Given the description of an element on the screen output the (x, y) to click on. 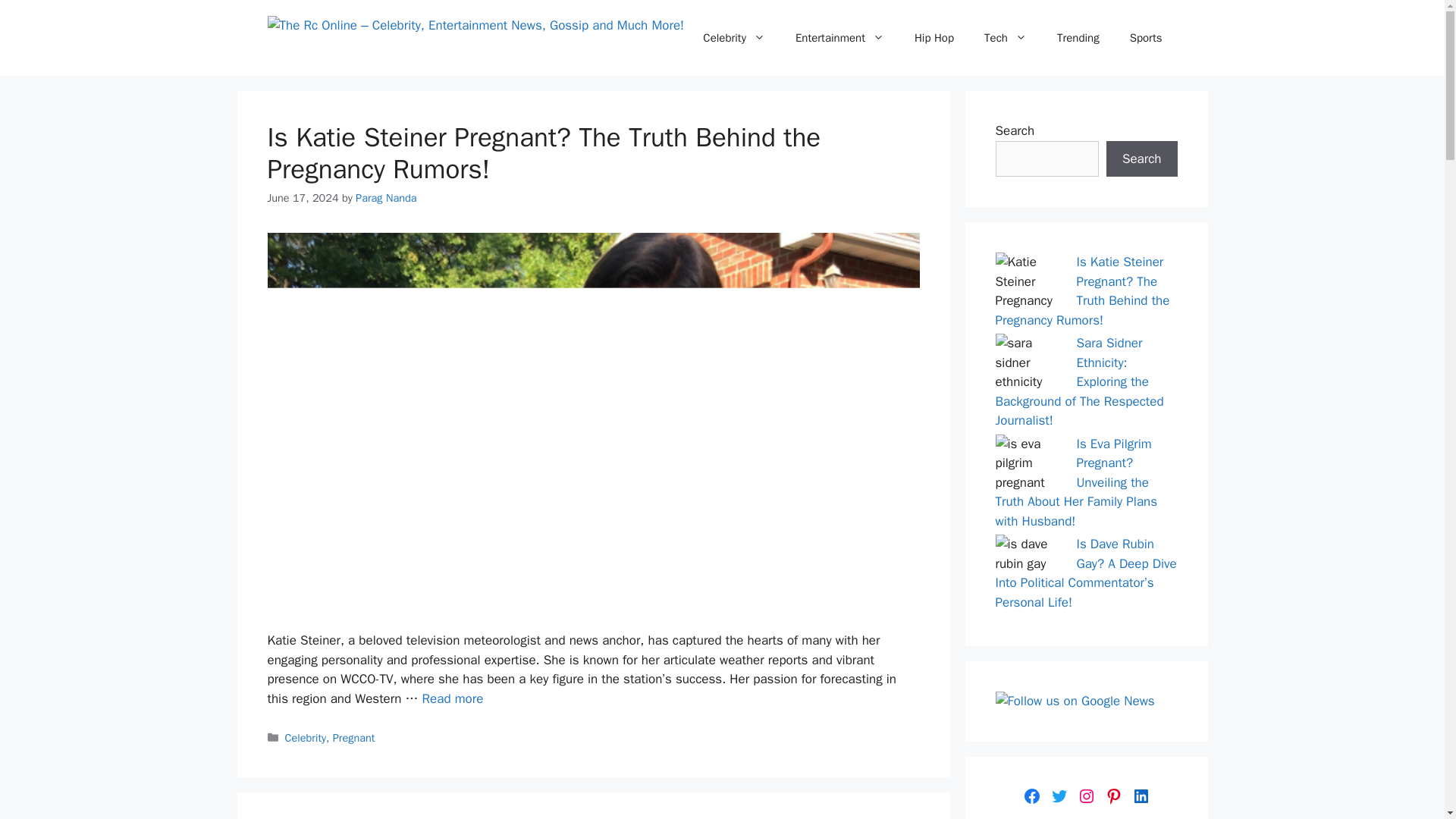
Parag Nanda (385, 197)
Read more (452, 698)
Trending (1078, 37)
Celebrity (305, 737)
Hip Hop (934, 37)
Celebrity (733, 37)
View all posts by Parag Nanda (385, 197)
Tech (1005, 37)
Sports (1146, 37)
